Given the description of an element on the screen output the (x, y) to click on. 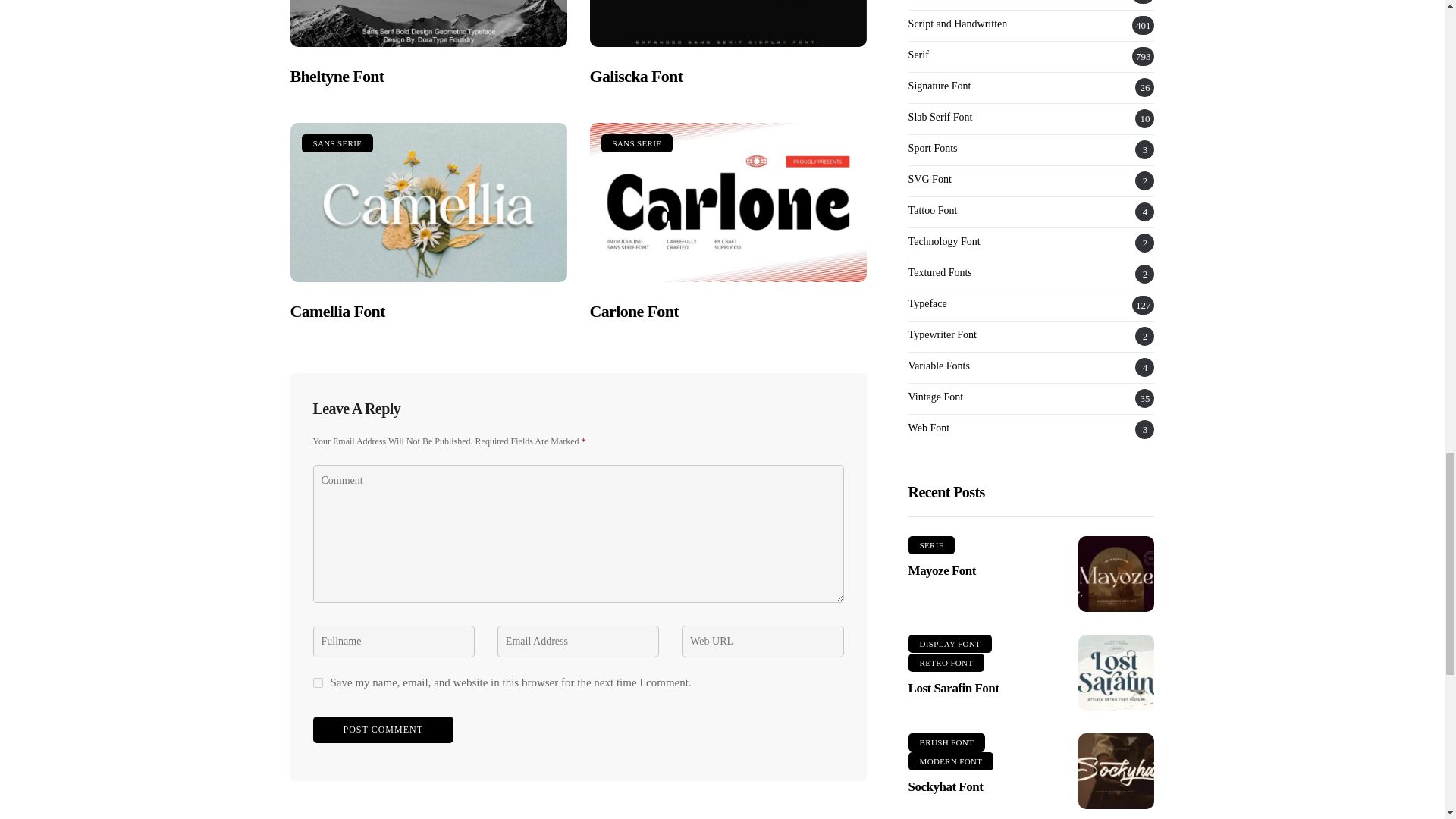
Post Comment (382, 729)
Camellia Font (427, 202)
Bheltyne Font (336, 75)
Lost Sarafin Font (1116, 672)
Mayoze Font (1116, 573)
Sockyhat Font (1116, 771)
Galiscka Font (635, 75)
yes (317, 682)
Bheltyne Font (427, 23)
Carlone Font (727, 202)
Galiscka Font (727, 23)
